Given the description of an element on the screen output the (x, y) to click on. 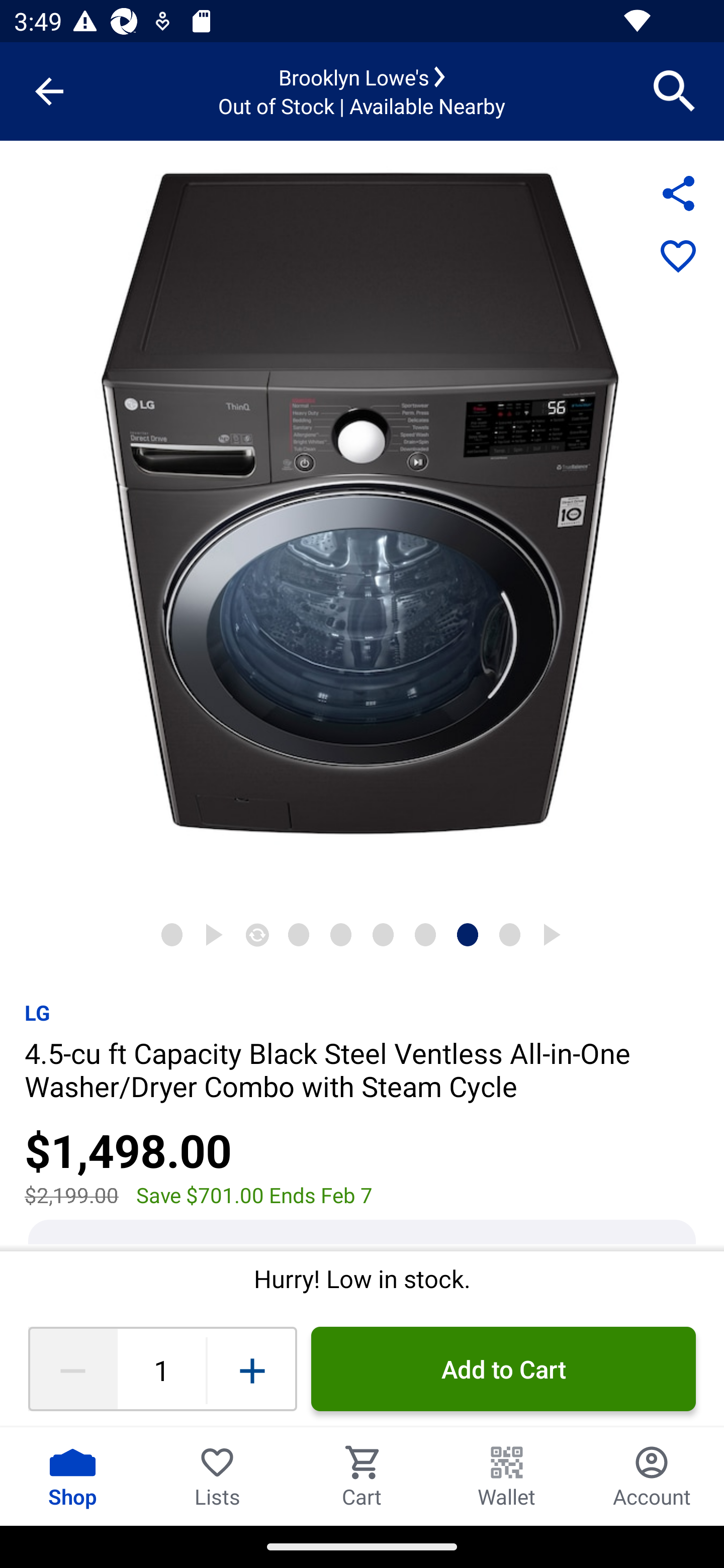
Navigate up (49, 91)
Search for products (674, 90)
Brooklyn Lowe's  Out of Stock | Available Nearby (361, 91)
Share (678, 193)
Save to List (678, 256)
Decrease quantity (72, 1368)
1 (161, 1368)
Increase quantity (251, 1368)
Add to Cart (503, 1368)
Lists (216, 1475)
Cart (361, 1475)
Wallet (506, 1475)
Account (651, 1475)
